Given the description of an element on the screen output the (x, y) to click on. 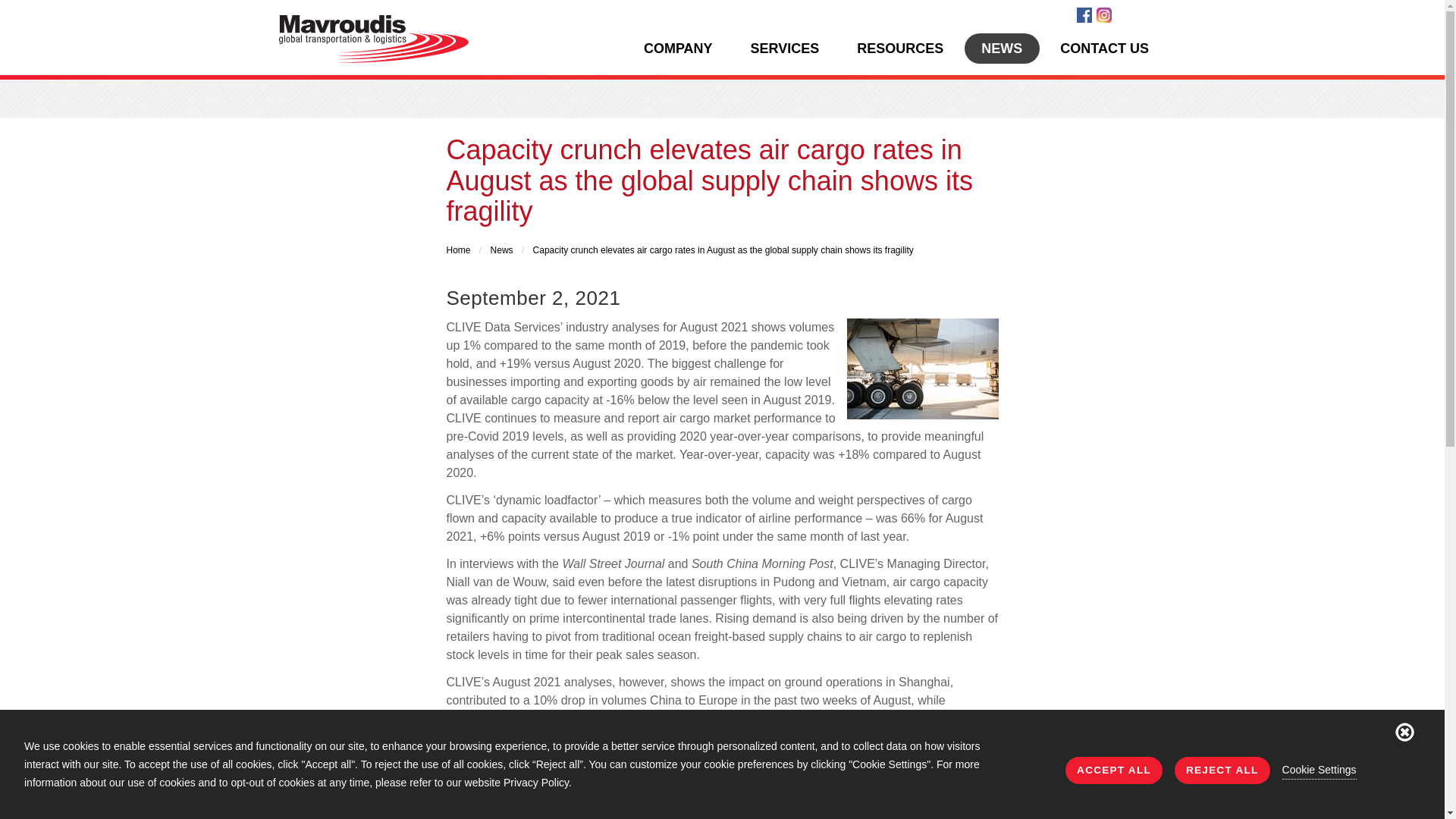
COMPANY (677, 48)
Dismiss Banner (1403, 731)
SERVICES (784, 48)
